Given the description of an element on the screen output the (x, y) to click on. 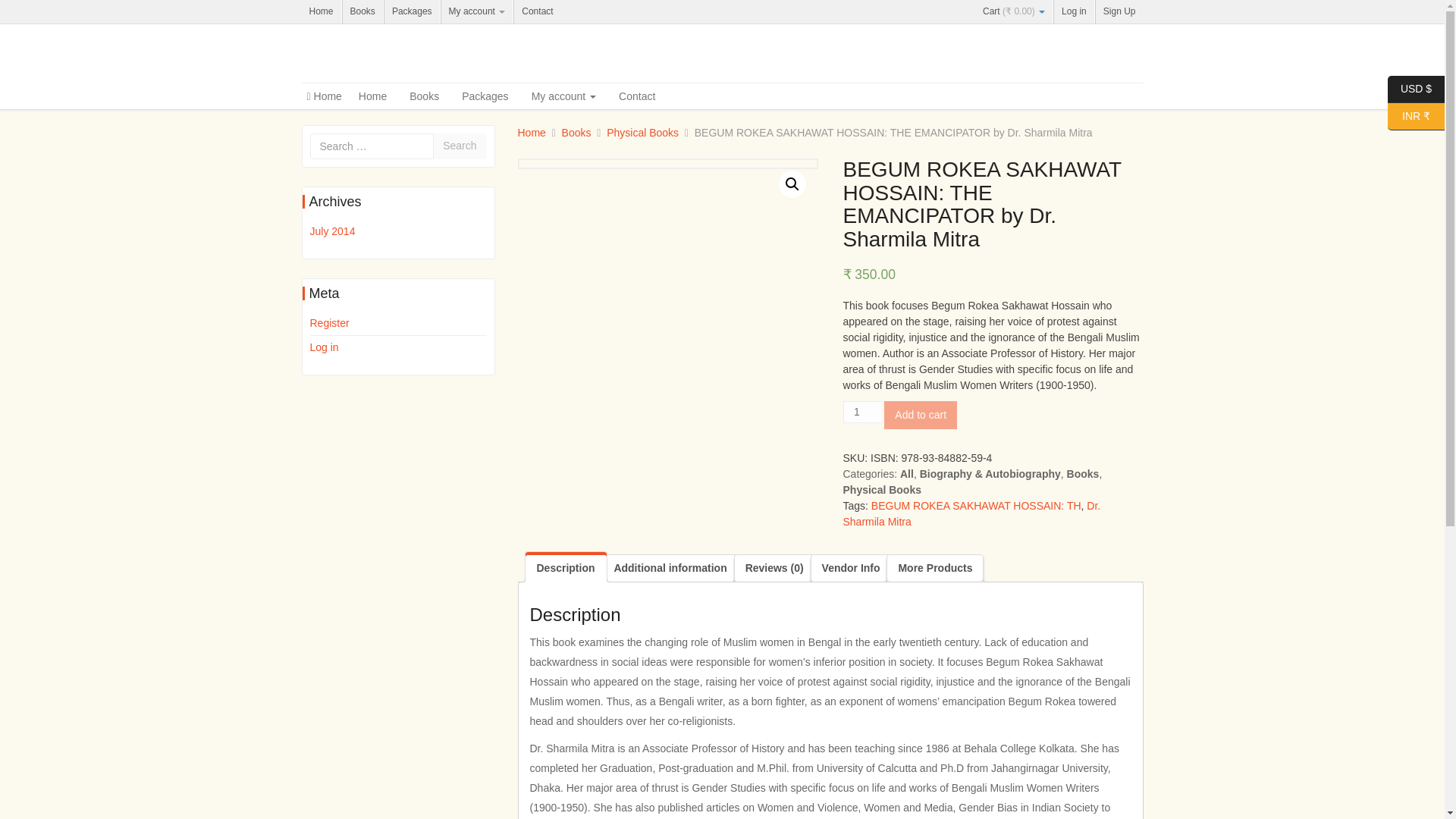
Home (320, 11)
My account (477, 11)
Log in (1074, 11)
Contact (536, 11)
Books (362, 11)
Add to cart (919, 415)
Search (459, 145)
Packages (411, 11)
Log in (322, 346)
Packages (484, 95)
Contact (636, 95)
Books (362, 11)
My account (477, 11)
Gol Papa (415, 53)
My account (563, 95)
